Given the description of an element on the screen output the (x, y) to click on. 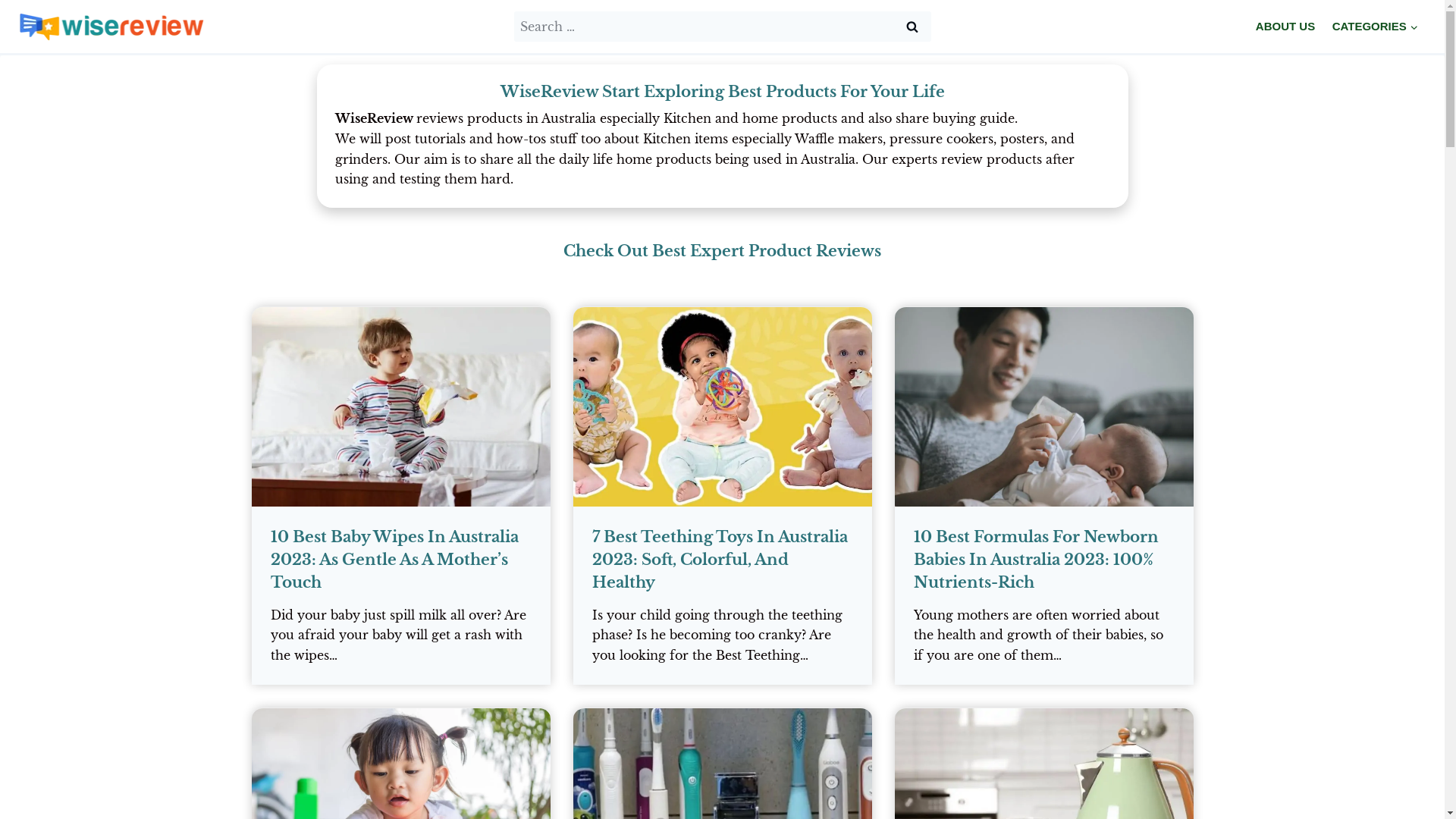
Search Element type: text (912, 26)
CATEGORIES Element type: text (1374, 26)
ABOUT US Element type: text (1285, 26)
